Given the description of an element on the screen output the (x, y) to click on. 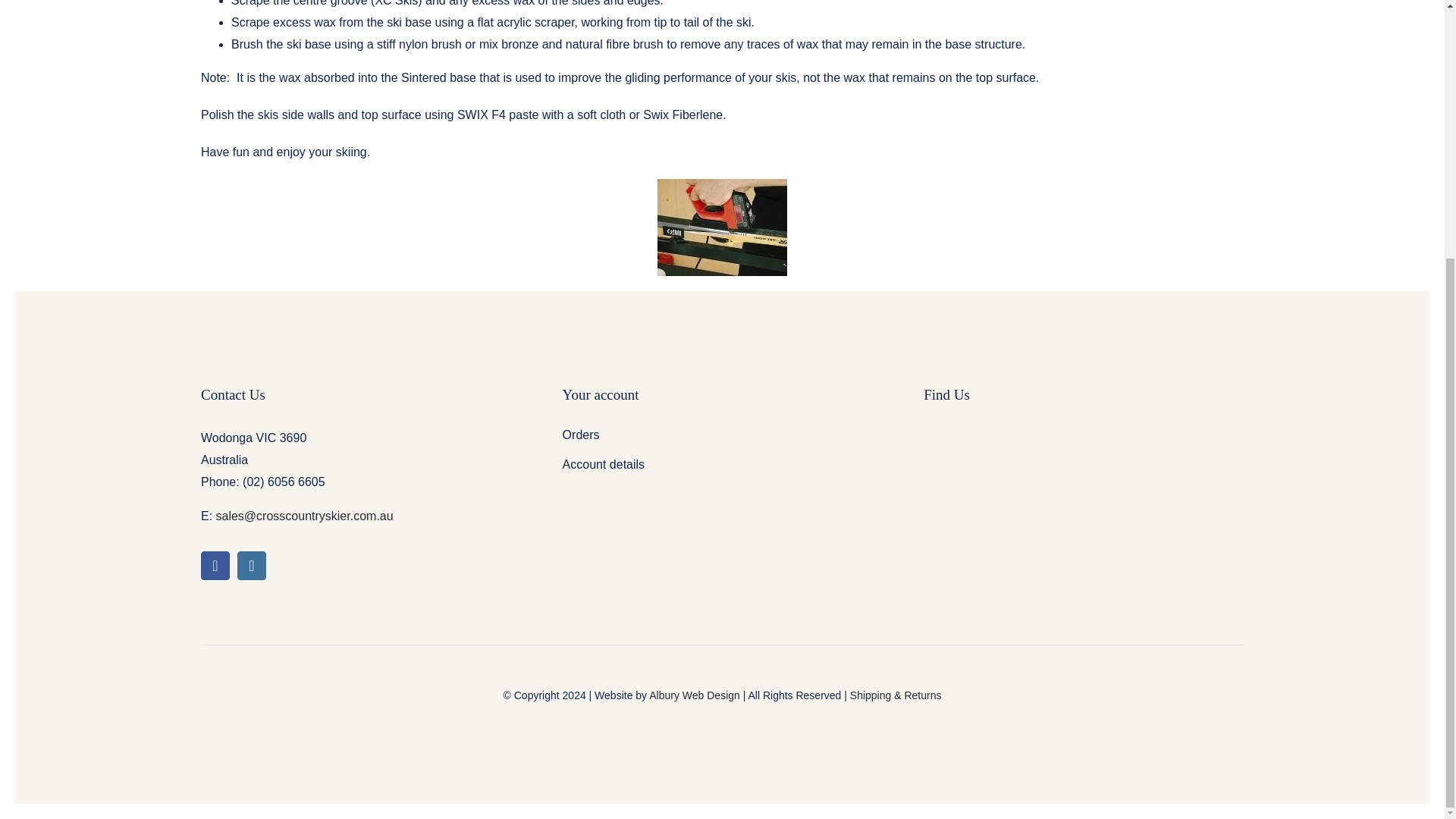
Facebook (215, 565)
Instagram (251, 565)
getimage2 (722, 227)
